Given the description of an element on the screen output the (x, y) to click on. 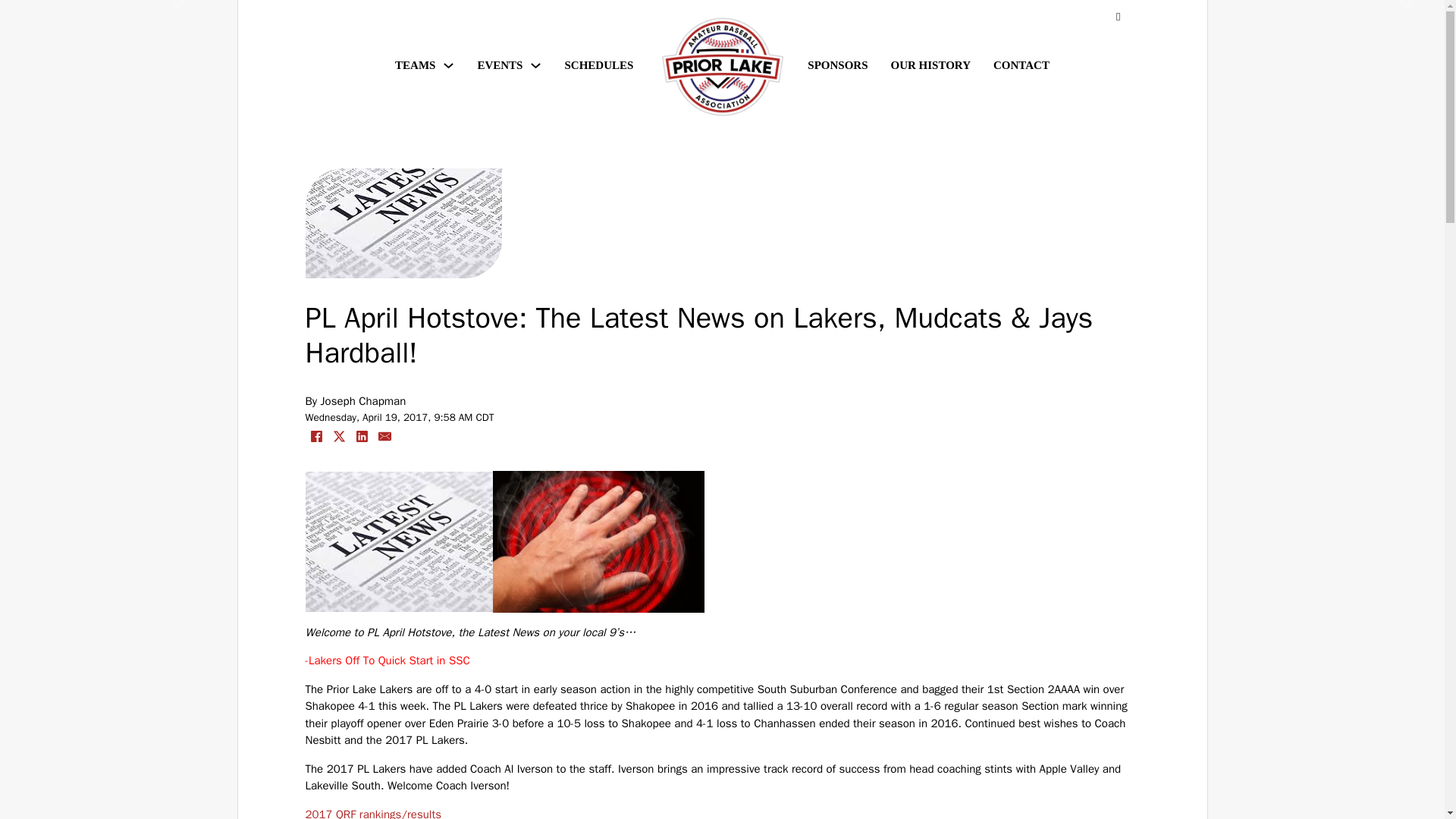
SPONSORS (837, 66)
EVENTS (499, 65)
SCHEDULES (598, 66)
TEAMS (414, 65)
